Given the description of an element on the screen output the (x, y) to click on. 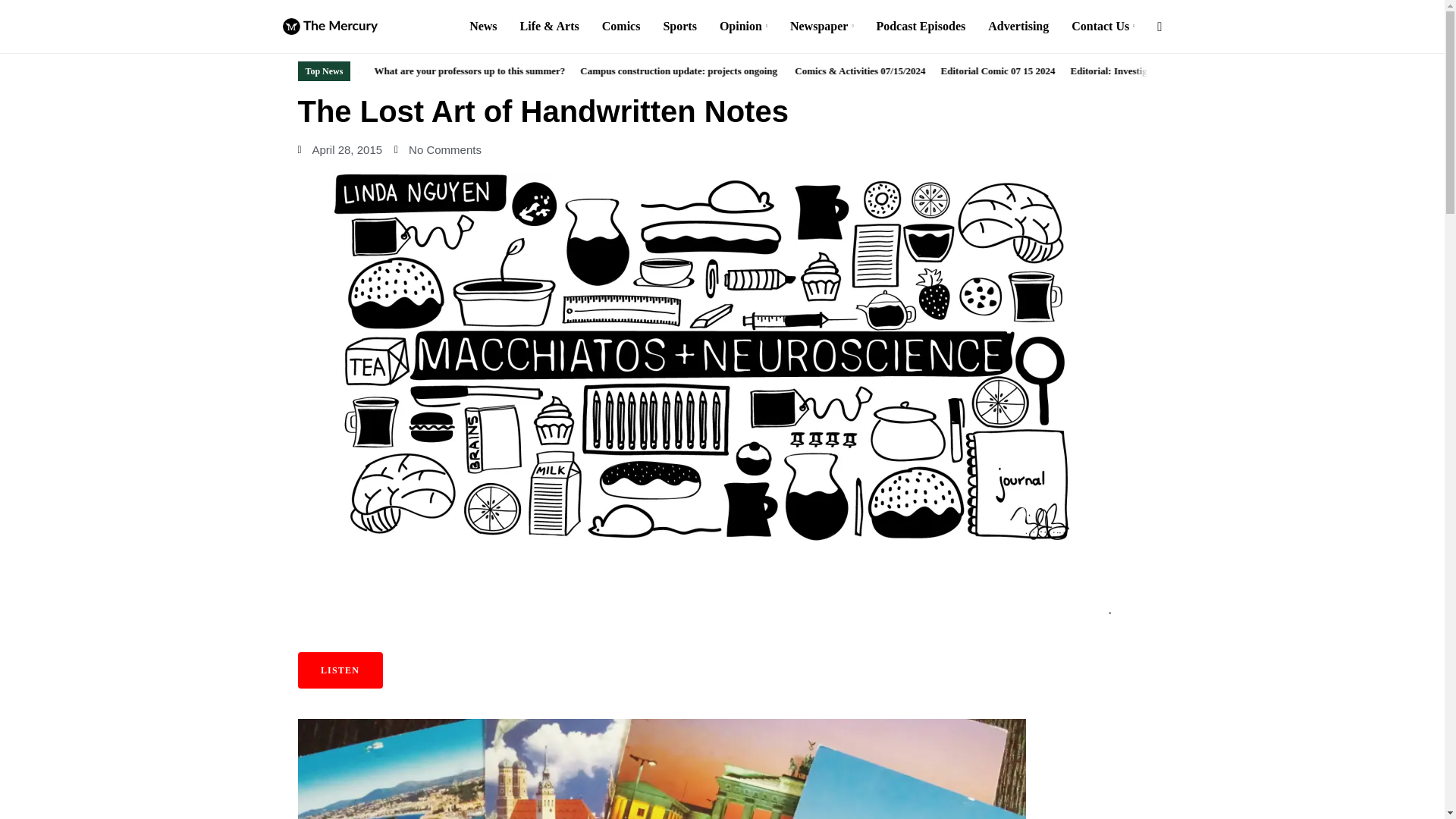
Podcast Episodes (920, 26)
Text To Audio:  Tap to listen post. (339, 669)
Opinion (743, 26)
Newspaper (821, 26)
Advertising (1018, 26)
Contact Us (1102, 26)
